Given the description of an element on the screen output the (x, y) to click on. 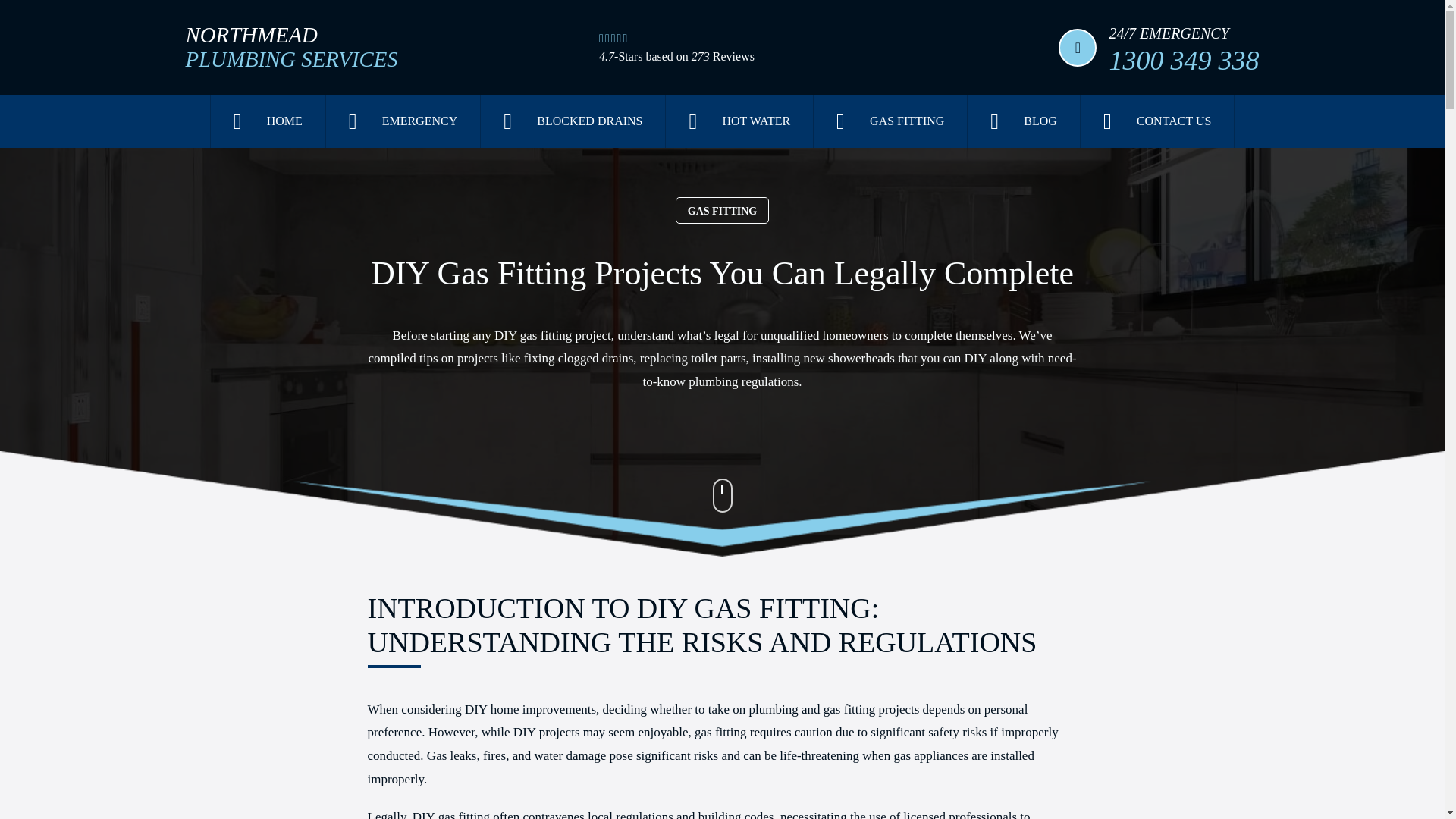
GAS FITTING (290, 47)
HOT WATER (889, 121)
BLOG (738, 121)
1300 349 338 (1024, 121)
EMERGENCY (1183, 60)
BLOCKED DRAINS (403, 121)
CONTACT US (572, 121)
Northmead Plumbing Services (1156, 121)
GAS FITTING (290, 47)
HOME (721, 210)
1300 349 338 (267, 121)
